Given the description of an element on the screen output the (x, y) to click on. 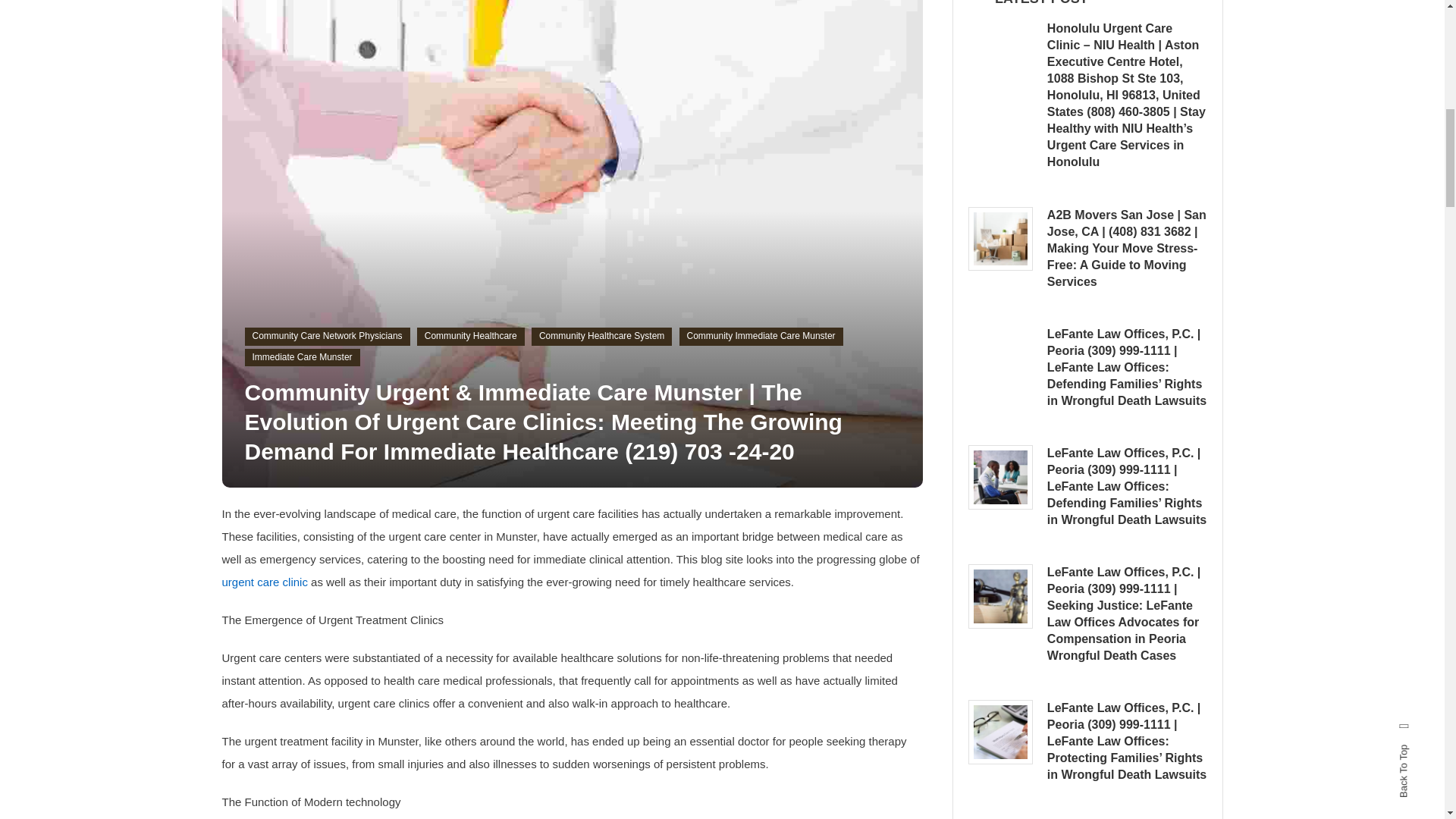
Community Healthcare System (601, 336)
Community Healthcare (470, 336)
Community Care Network Physicians (326, 336)
